Given the description of an element on the screen output the (x, y) to click on. 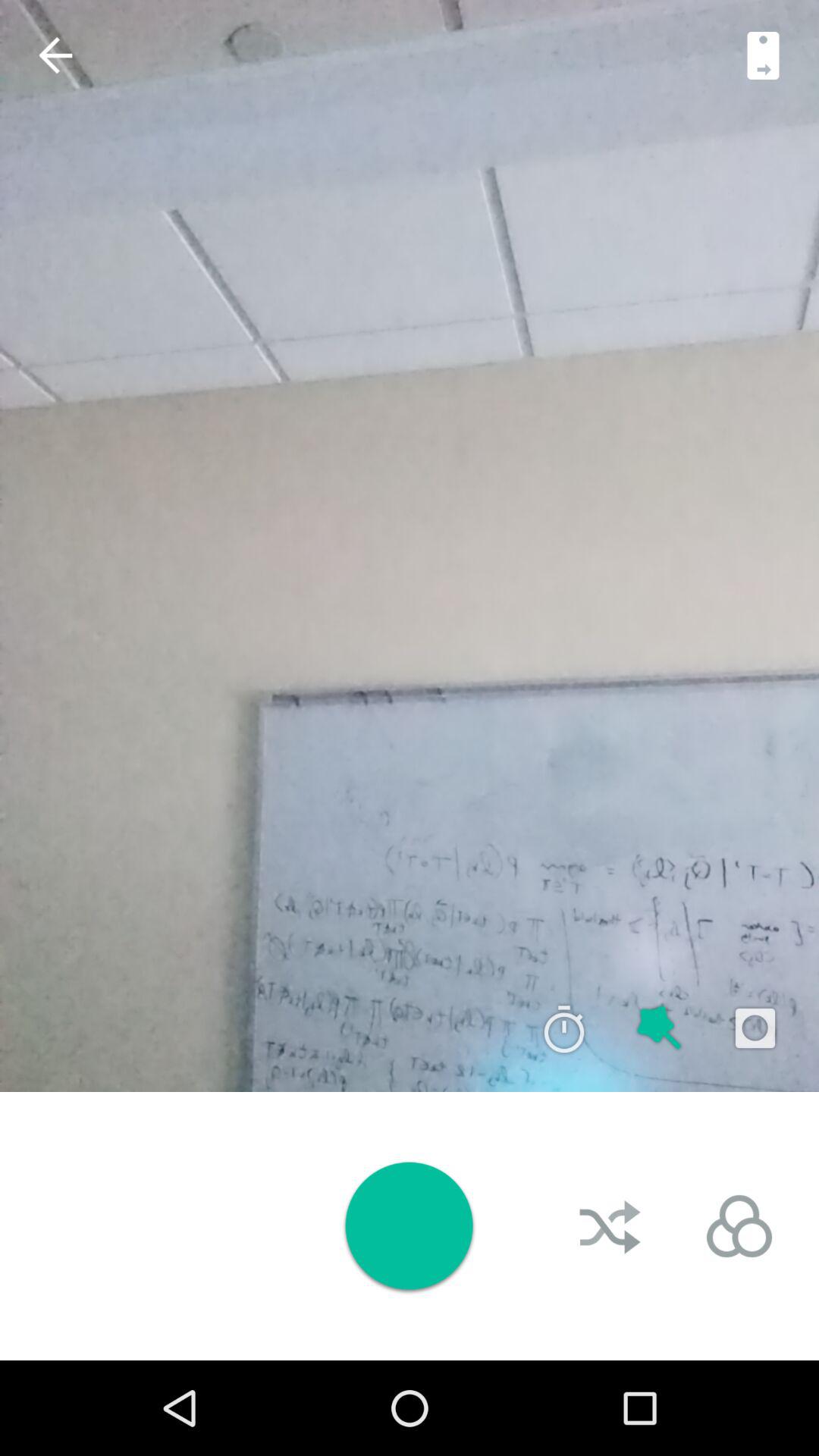
next button (763, 55)
